Given the description of an element on the screen output the (x, y) to click on. 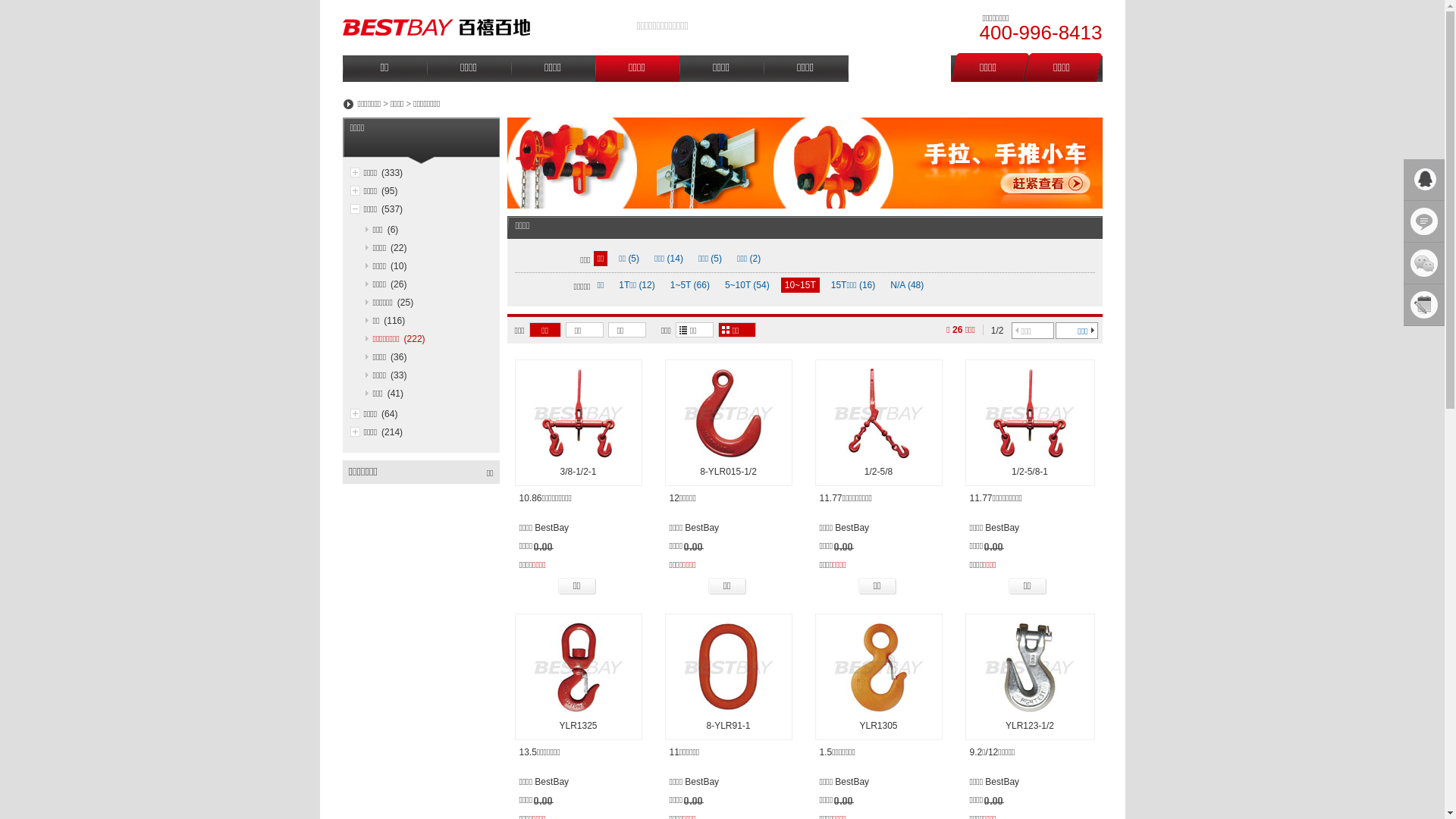
N/A (48) Element type: text (906, 284)
5~10T (54) Element type: text (747, 284)
10~15T Element type: text (800, 284)
1~5T (66) Element type: text (689, 284)
